Given the description of an element on the screen output the (x, y) to click on. 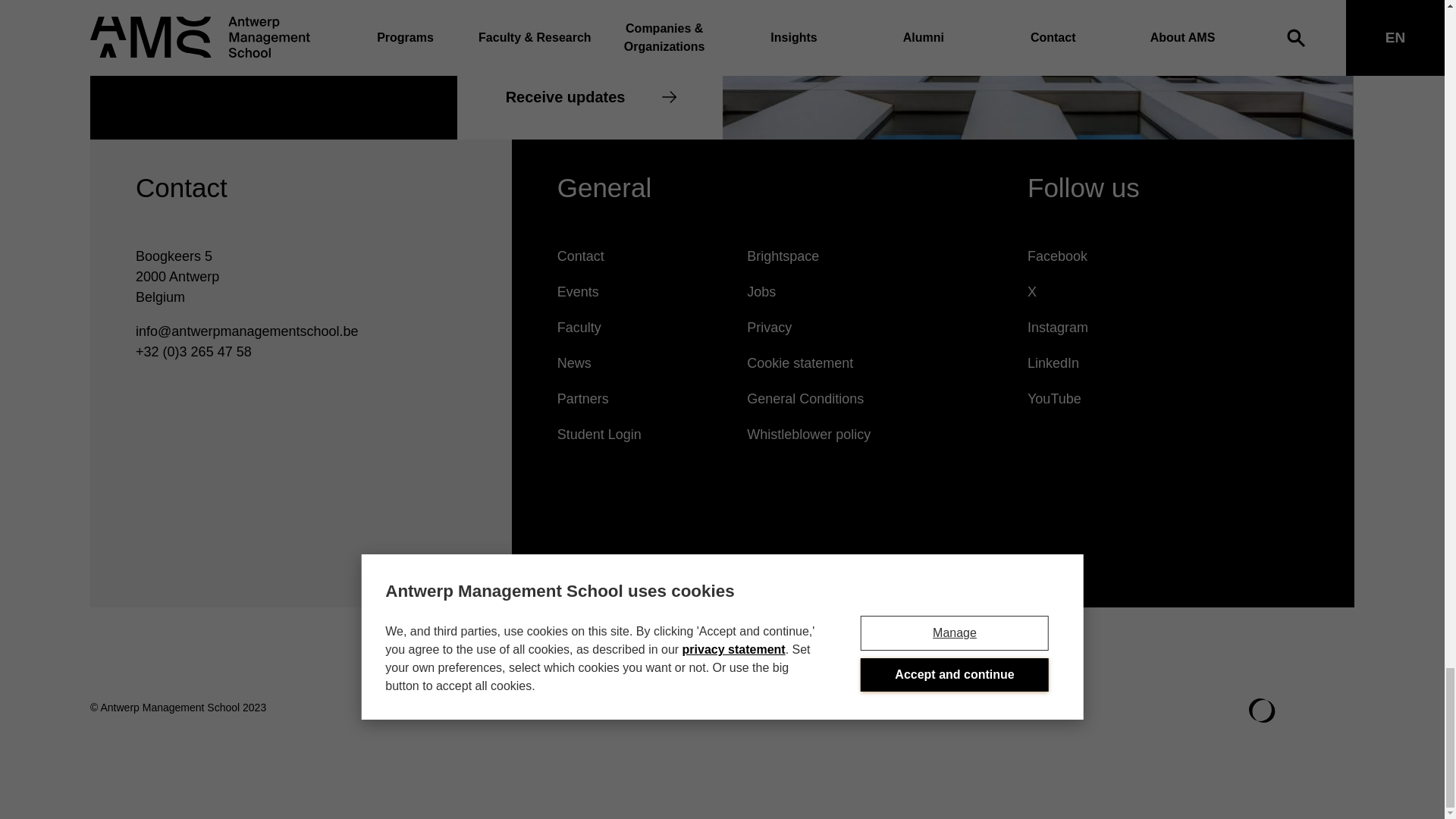
Receive updates (589, 96)
subscribe-image (1038, 69)
logo-lunar (1262, 710)
